Given the description of an element on the screen output the (x, y) to click on. 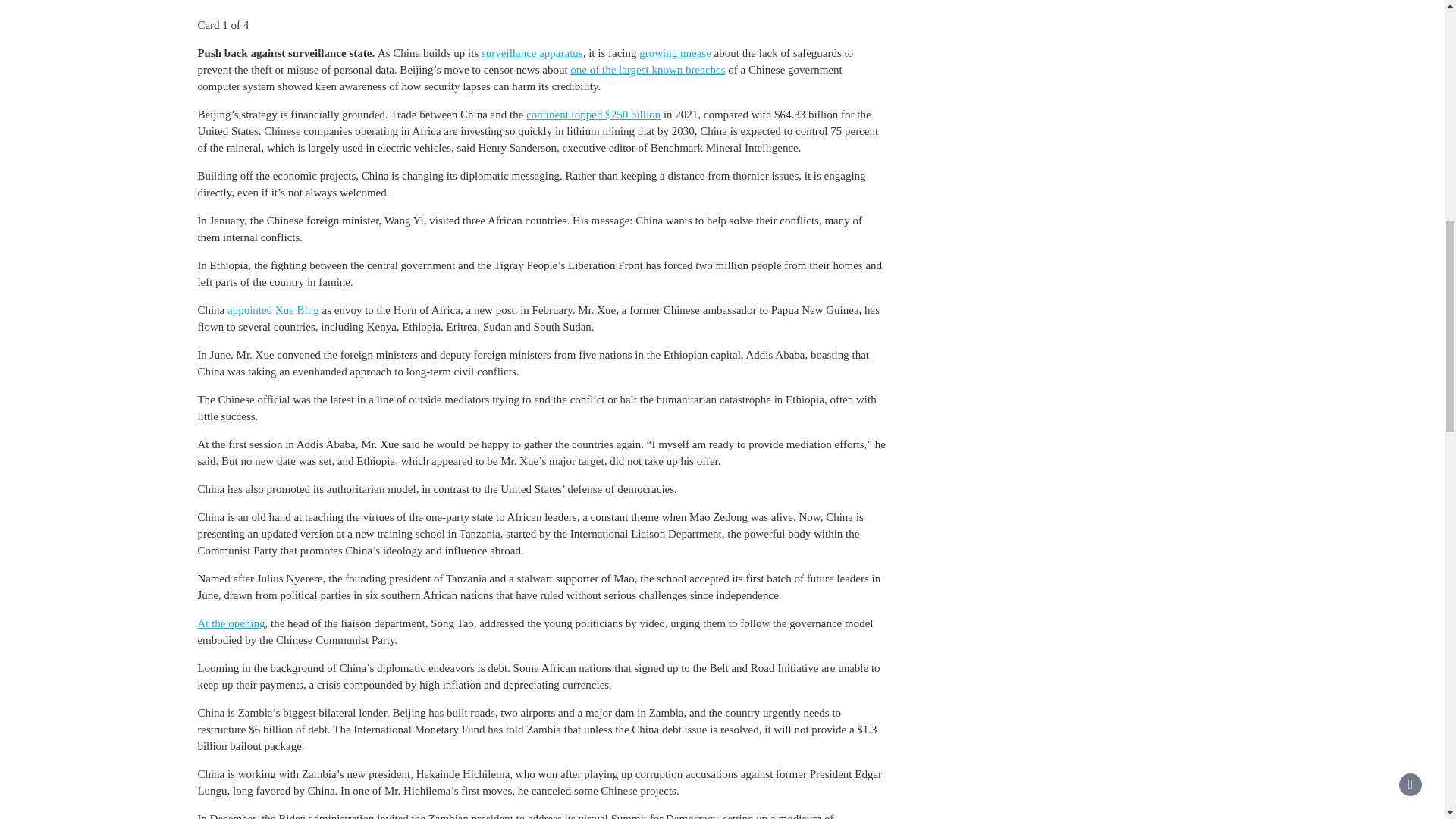
appointed Xue Bing (272, 309)
At the opening (230, 623)
one of the largest known breaches (647, 69)
surveillance apparatus (532, 52)
growing unease (675, 52)
